Given the description of an element on the screen output the (x, y) to click on. 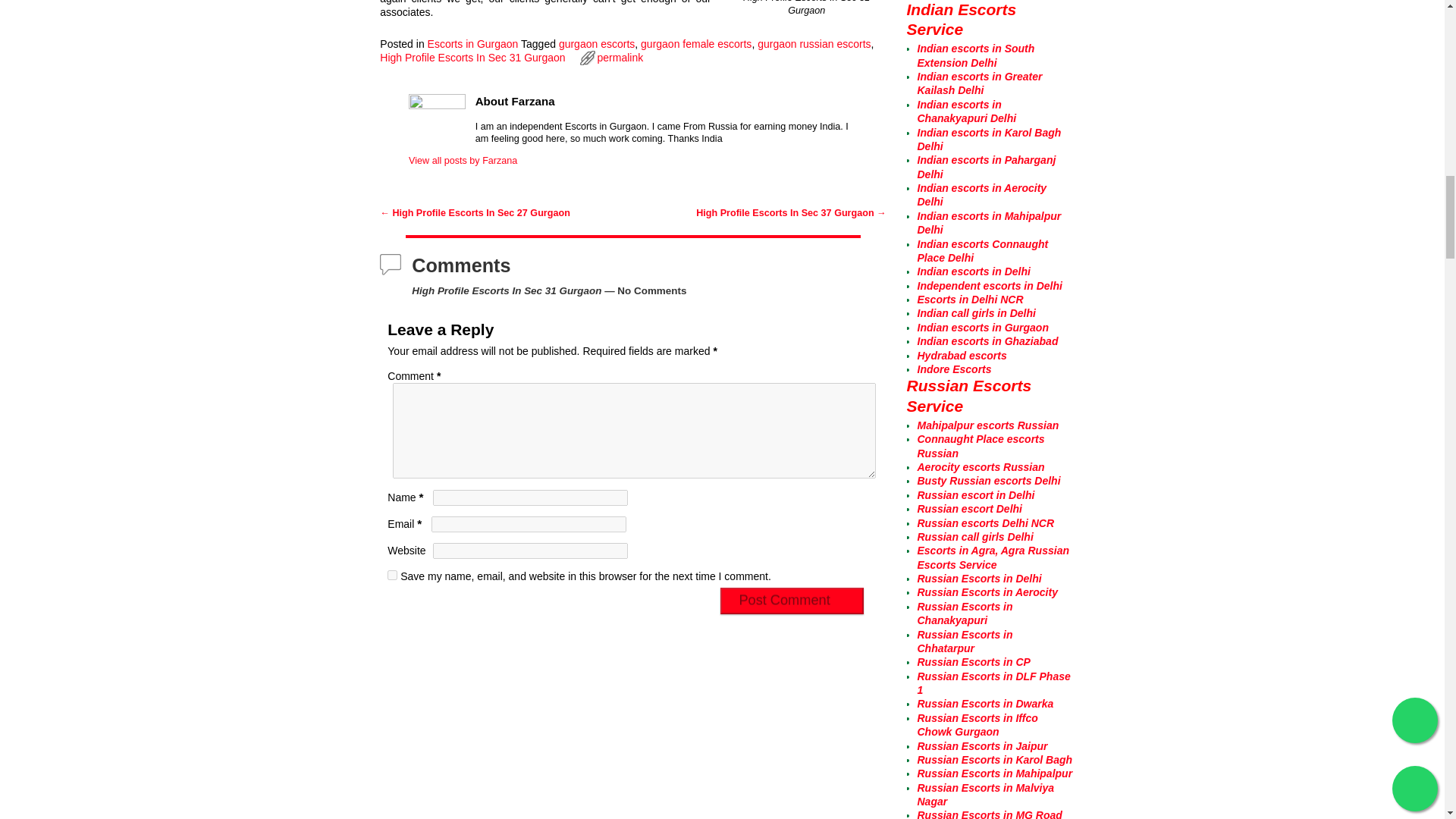
Escorts in Gurgaon (473, 43)
Post Comment (791, 601)
View all posts by Farzana (462, 160)
permalink (619, 57)
yes (392, 574)
Post Comment (791, 601)
gurgaon female escorts (695, 43)
gurgaon escorts (596, 43)
gurgaon russian escorts (813, 43)
High Profile Escorts In Sec 31 Gurgaon (472, 57)
Permalink to High Profile Escorts In Sec 31 Gurgaon (619, 57)
